Given the description of an element on the screen output the (x, y) to click on. 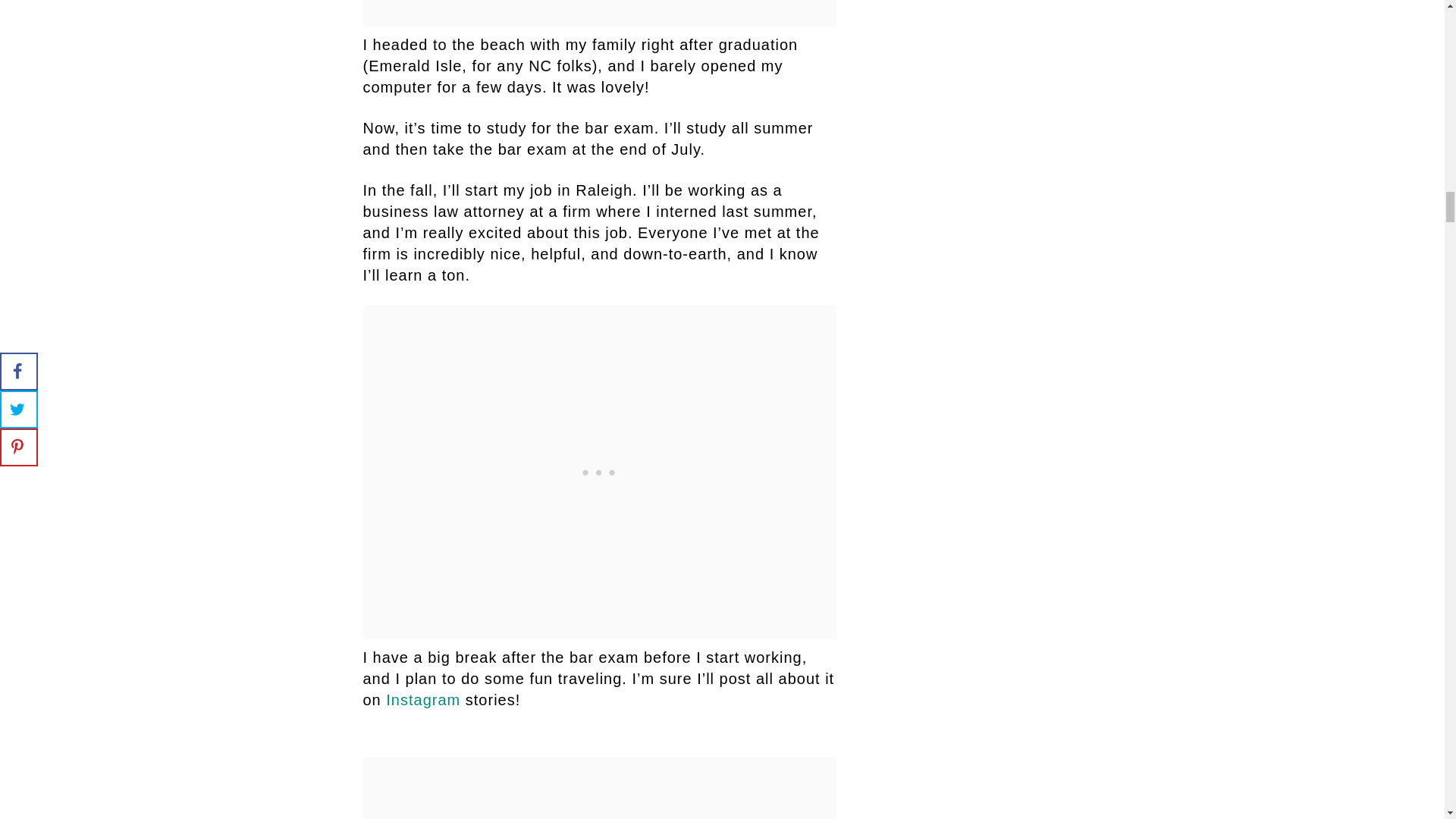
Instagram (424, 699)
